Given the description of an element on the screen output the (x, y) to click on. 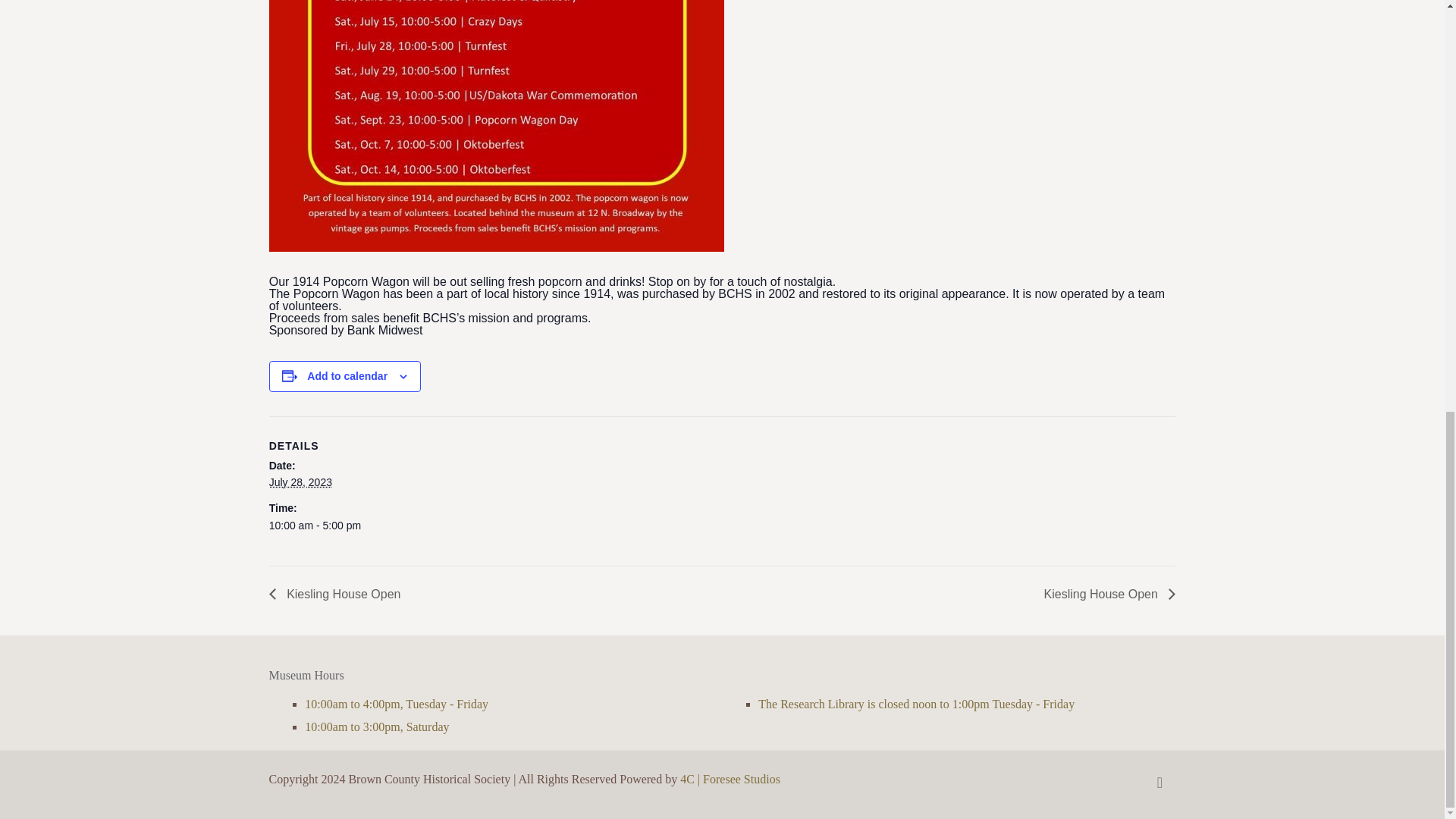
2023-07-28 (300, 481)
Kiesling House Open (339, 594)
2023-07-28 (713, 525)
Add to calendar (347, 376)
